Given the description of an element on the screen output the (x, y) to click on. 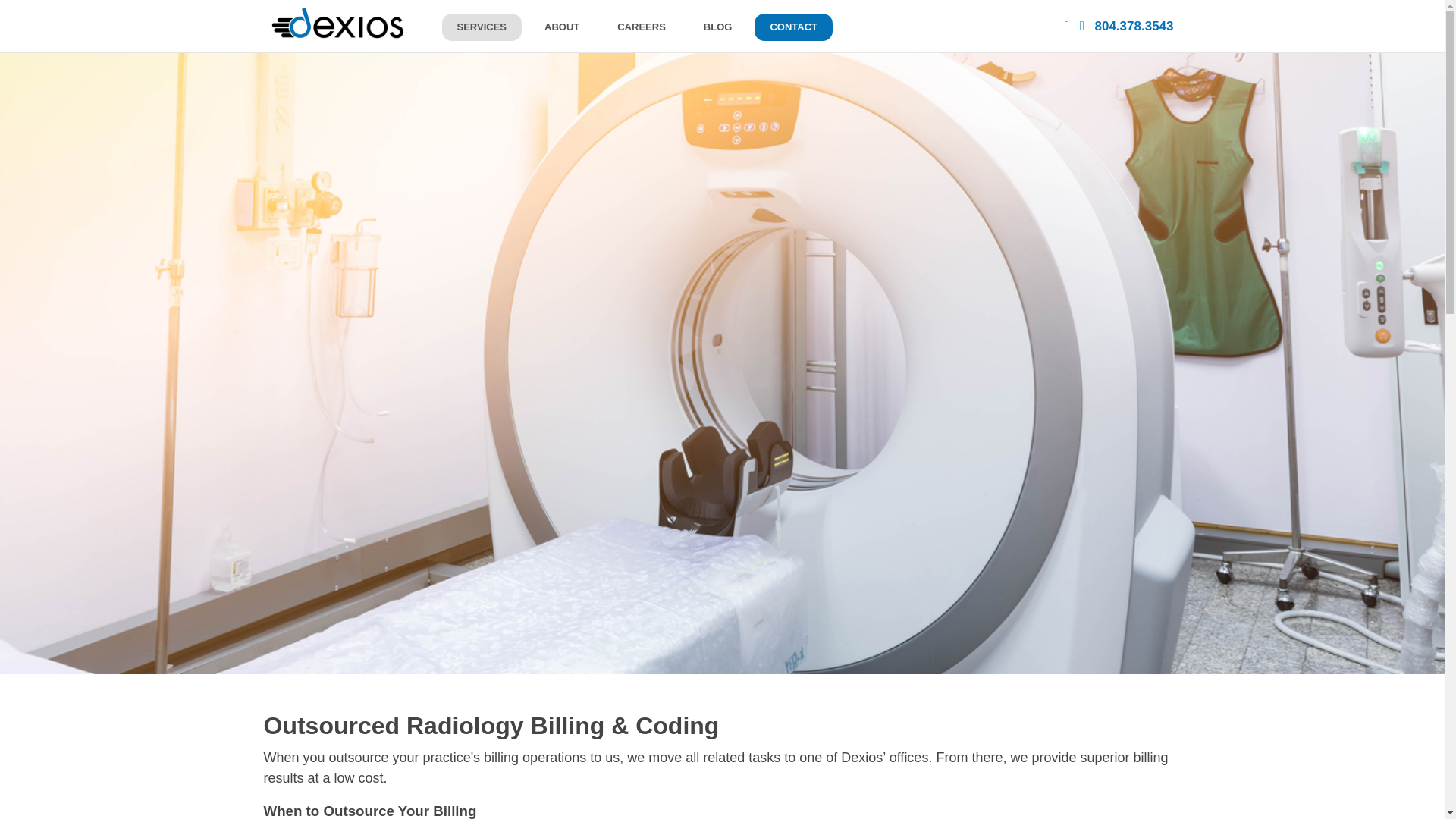
CONTACT (793, 26)
SERVICES (481, 26)
BLOG (718, 26)
CAREERS (641, 26)
804.378.3543 (1133, 25)
ABOUT (561, 26)
dexioscorp (337, 22)
